Given the description of an element on the screen output the (x, y) to click on. 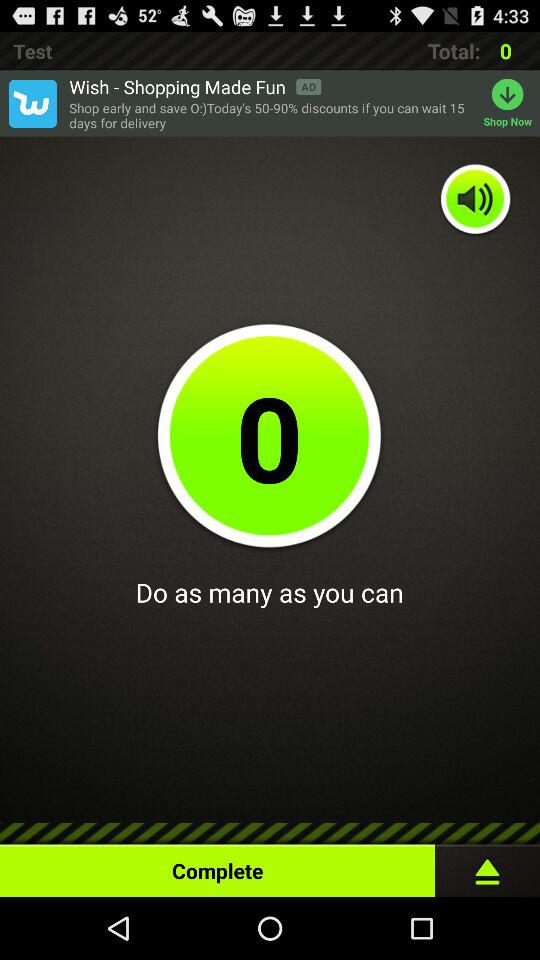
flip to wish shopping made item (195, 86)
